Given the description of an element on the screen output the (x, y) to click on. 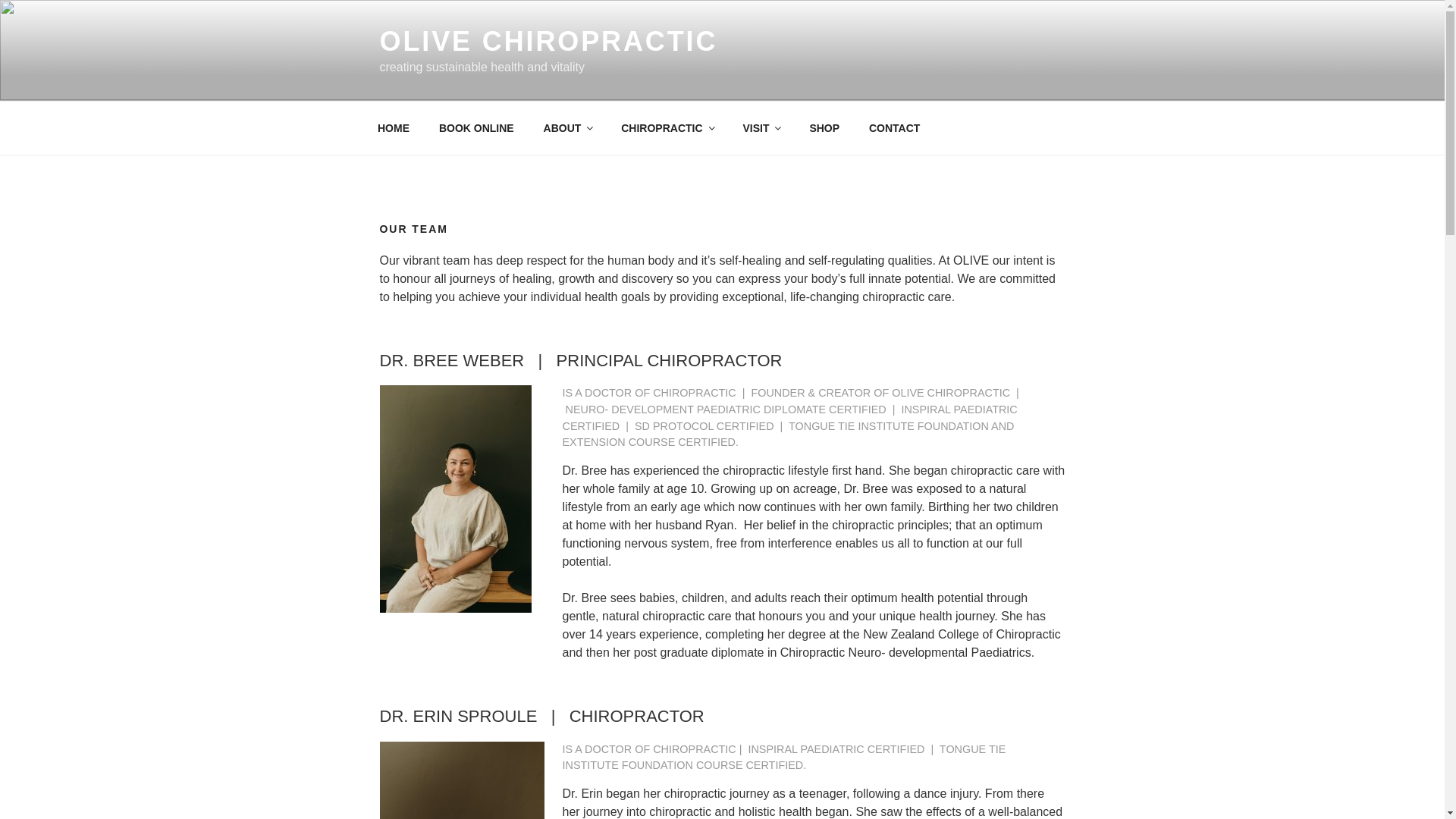
CHIROPRACTIC Element type: text (667, 127)
BOOK ONLINE Element type: text (476, 127)
SHOP Element type: text (824, 127)
HOME Element type: text (393, 127)
VISIT Element type: text (761, 127)
ABOUT Element type: text (567, 127)
CONTACT Element type: text (893, 127)
OLIVE CHIROPRACTIC Element type: text (548, 40)
